Given the description of an element on the screen output the (x, y) to click on. 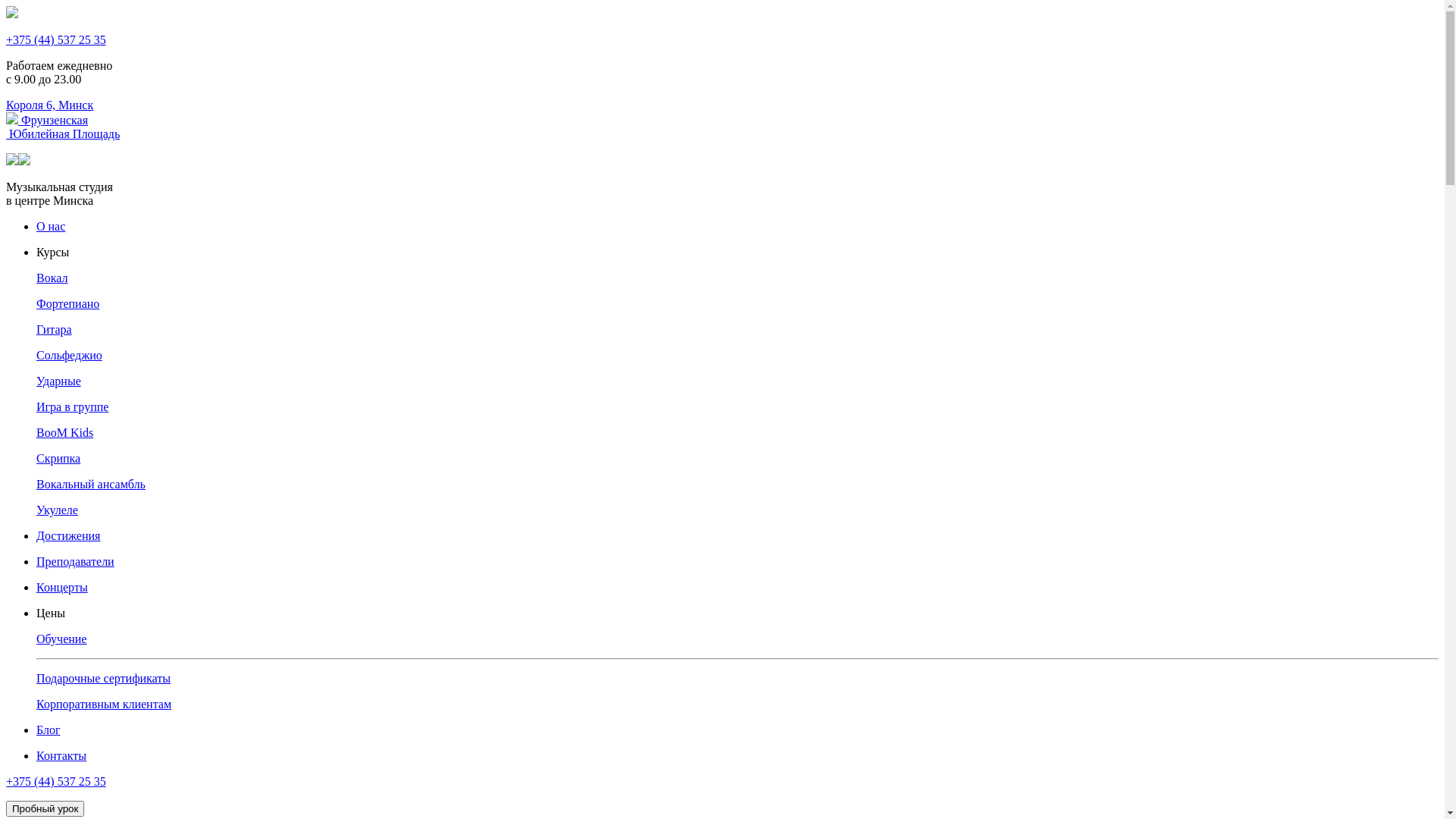
BooM Kids Element type: text (737, 432)
+375 (44) 537 25 35 Element type: text (56, 781)
+375 (44) 537 25 35 Element type: text (56, 39)
